Given the description of an element on the screen output the (x, y) to click on. 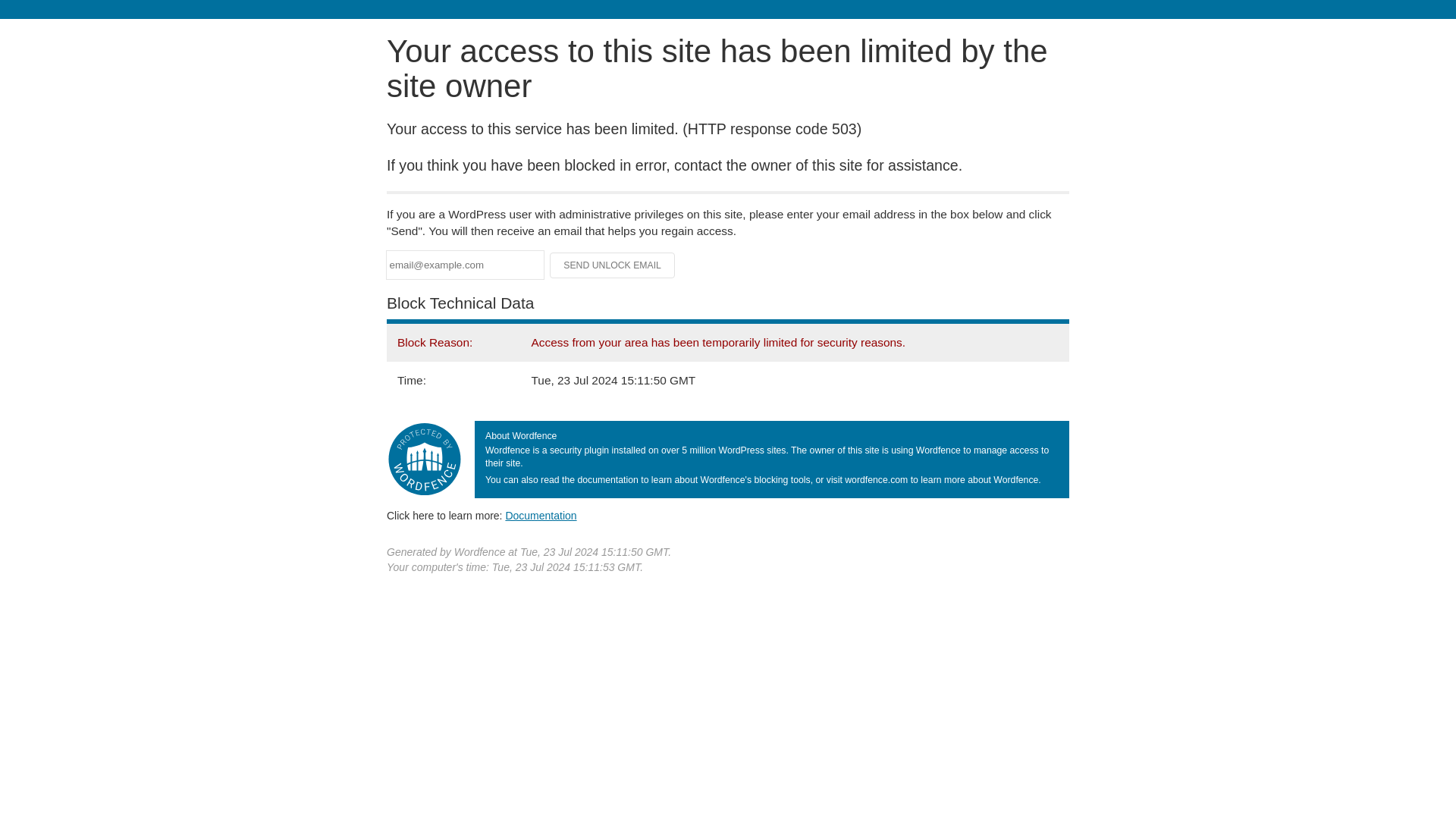
Send Unlock Email (612, 265)
Send Unlock Email (612, 265)
Documentation (540, 515)
